Given the description of an element on the screen output the (x, y) to click on. 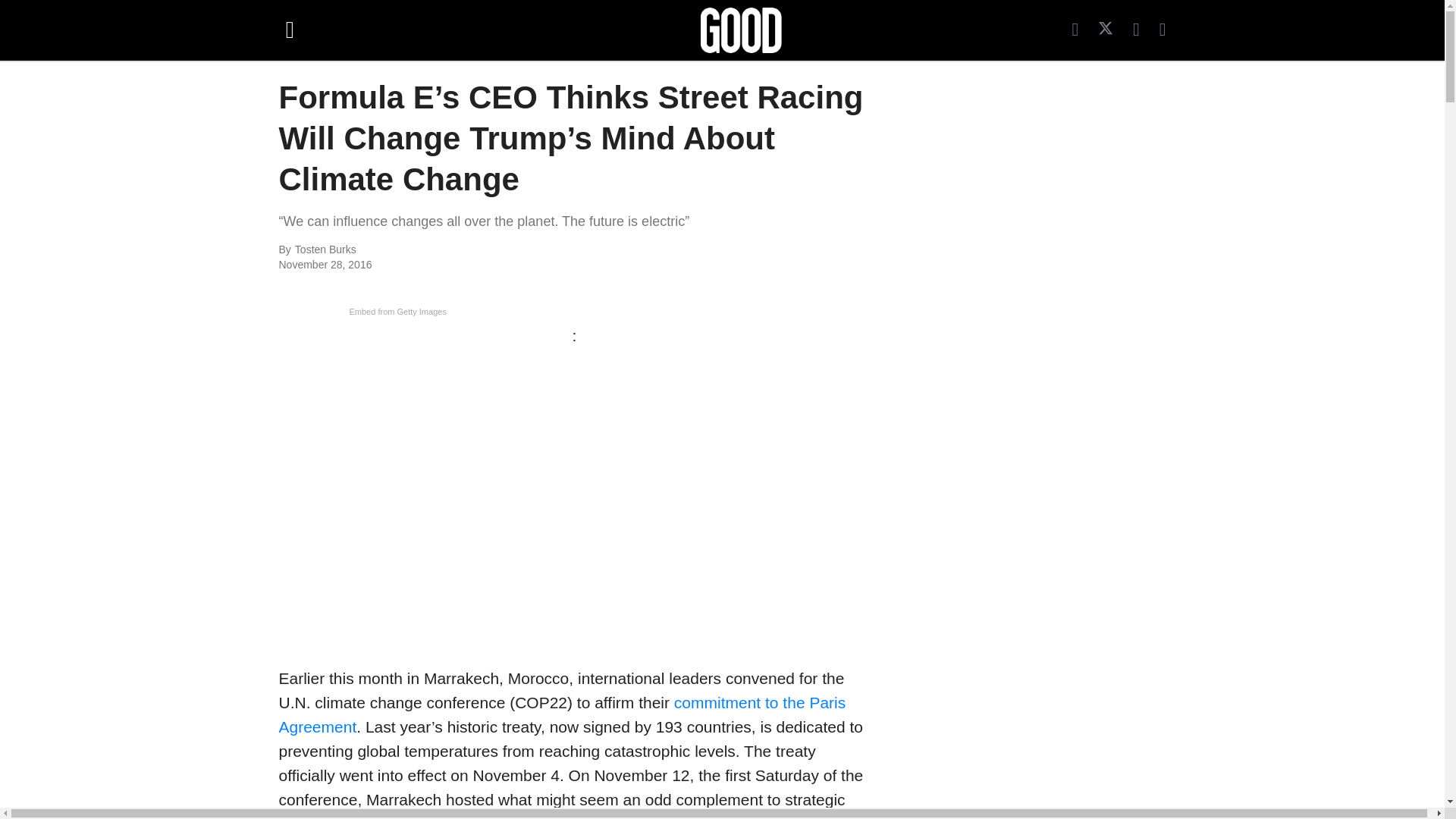
commitment to the Paris Agreement (562, 714)
Tosten Burks (459, 249)
Embed from Getty Images (397, 311)
